Given the description of an element on the screen output the (x, y) to click on. 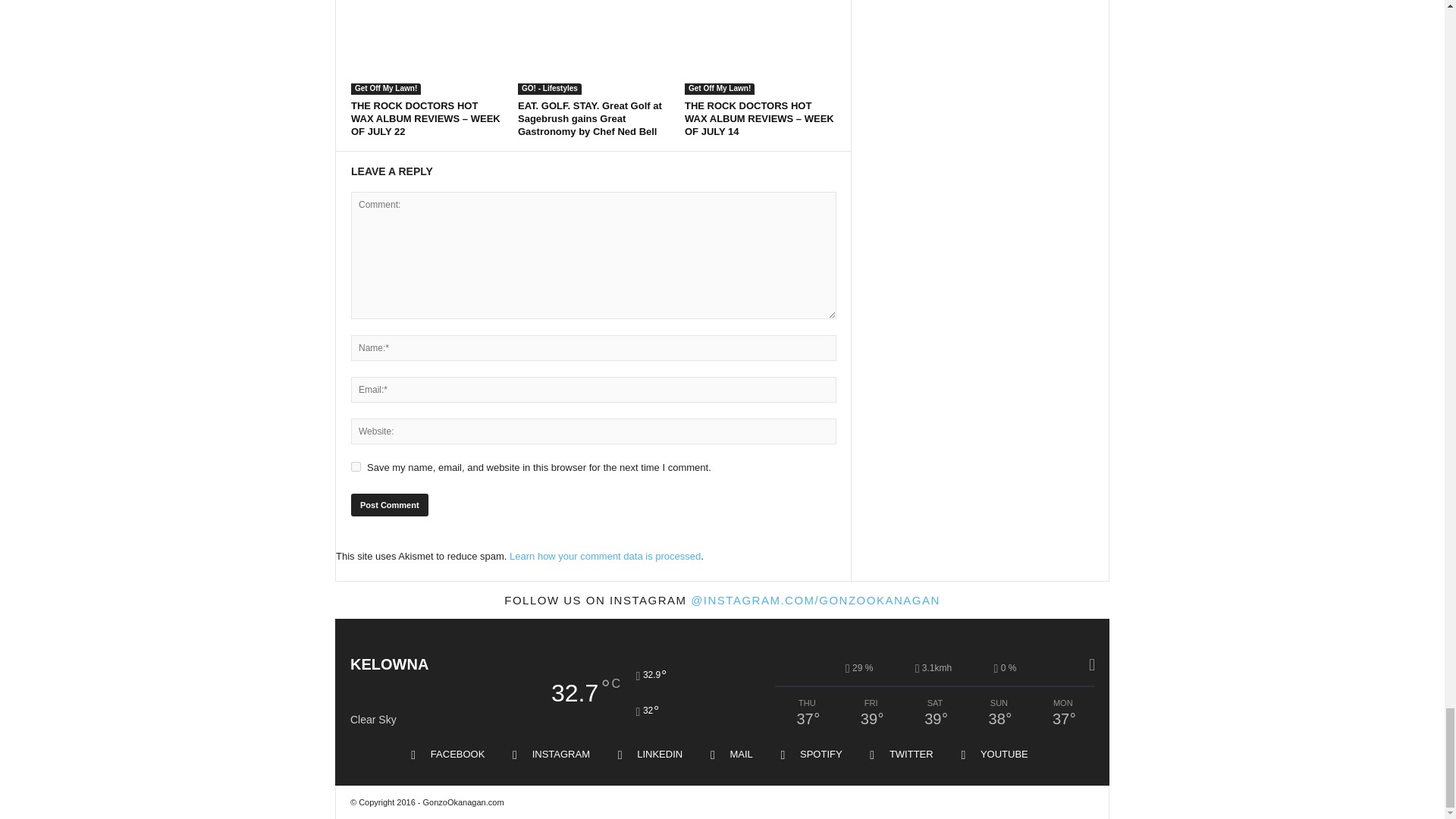
Post Comment (389, 504)
yes (355, 466)
